Given the description of an element on the screen output the (x, y) to click on. 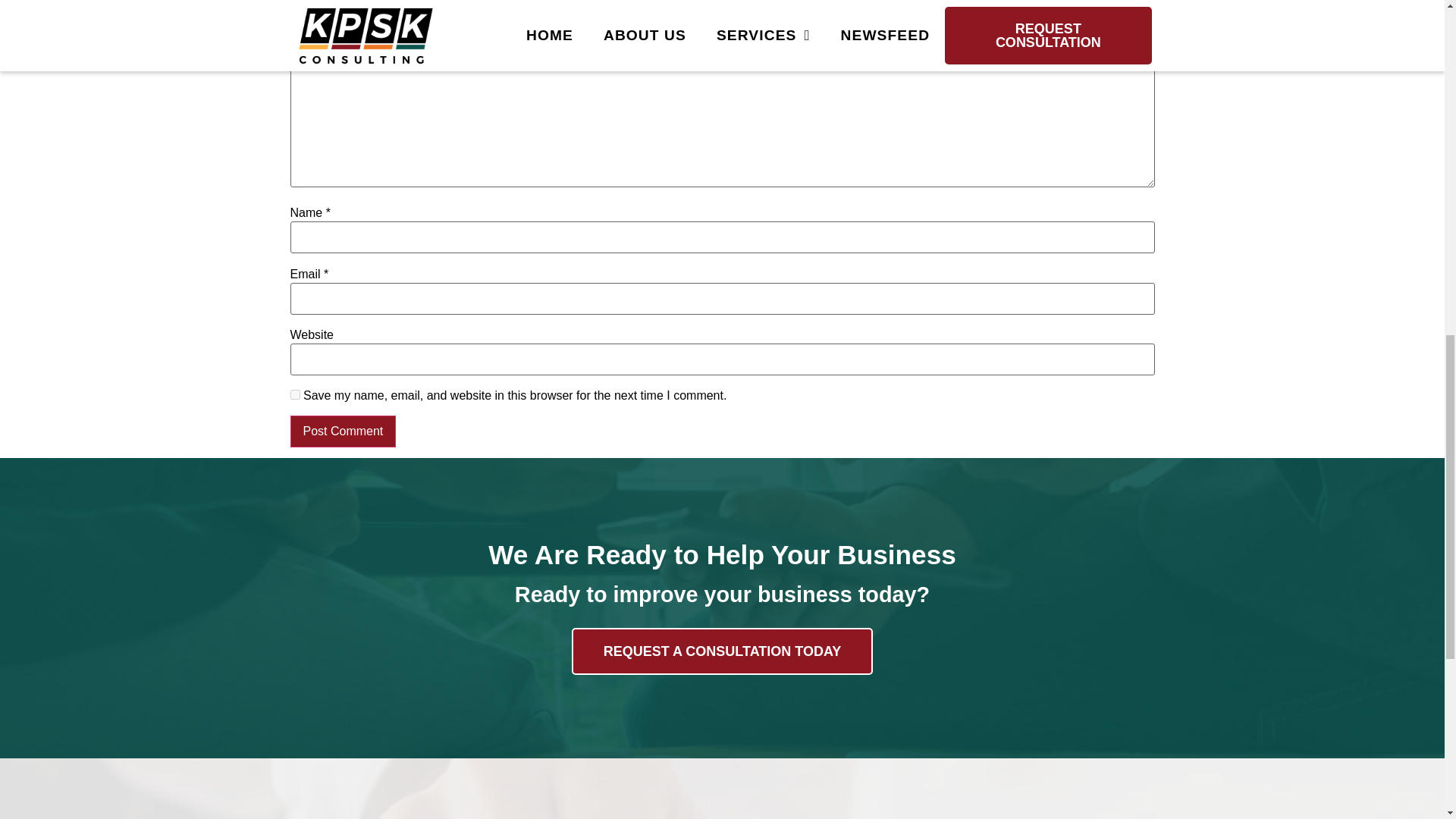
Post Comment (342, 431)
yes (294, 394)
